Given the description of an element on the screen output the (x, y) to click on. 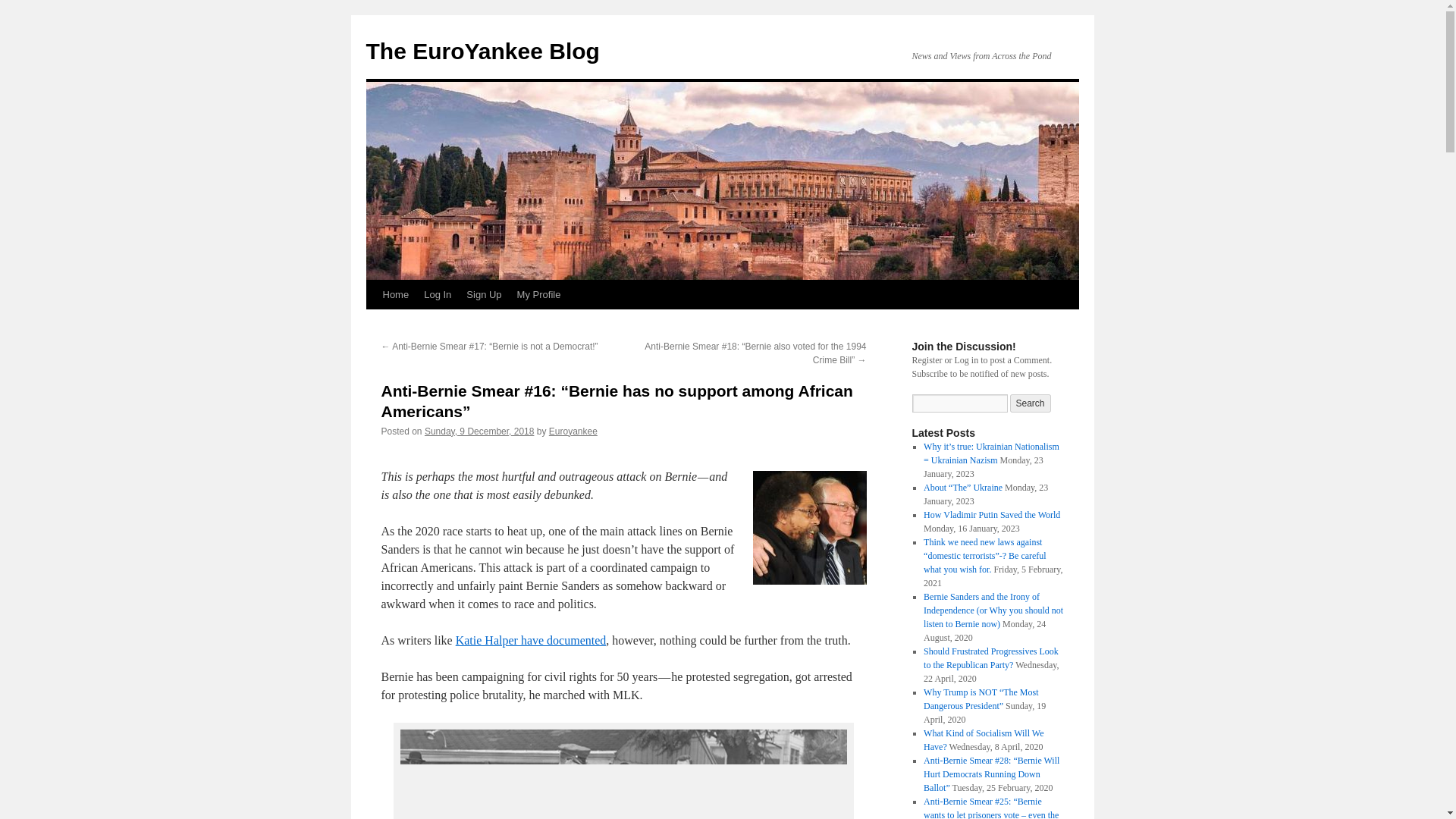
Katie Halper have documented (531, 640)
My Profile (539, 294)
Home (395, 294)
Sign Up (483, 294)
Euroyankee (572, 430)
Sunday, 9 December, 2018 (479, 430)
Log In (437, 294)
The EuroYankee Blog (481, 50)
View all posts by Euroyankee (572, 430)
12:30 (479, 430)
